Given the description of an element on the screen output the (x, y) to click on. 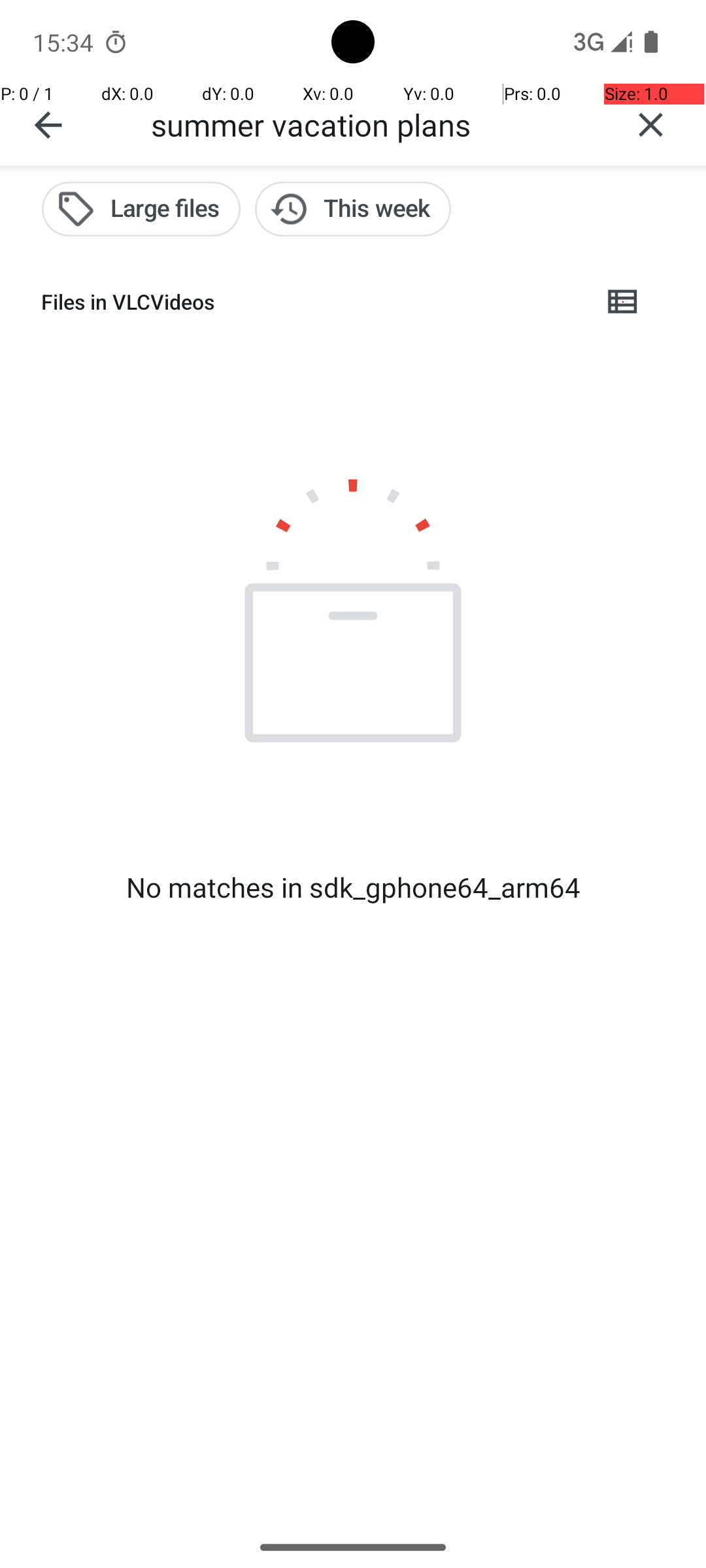
Files in VLCVideos Element type: android.widget.TextView (311, 301)
summer vacation plans Element type: android.widget.AutoCompleteTextView (373, 124)
No matches in sdk_gphone64_arm64 Element type: android.widget.TextView (352, 886)
